Given the description of an element on the screen output the (x, y) to click on. 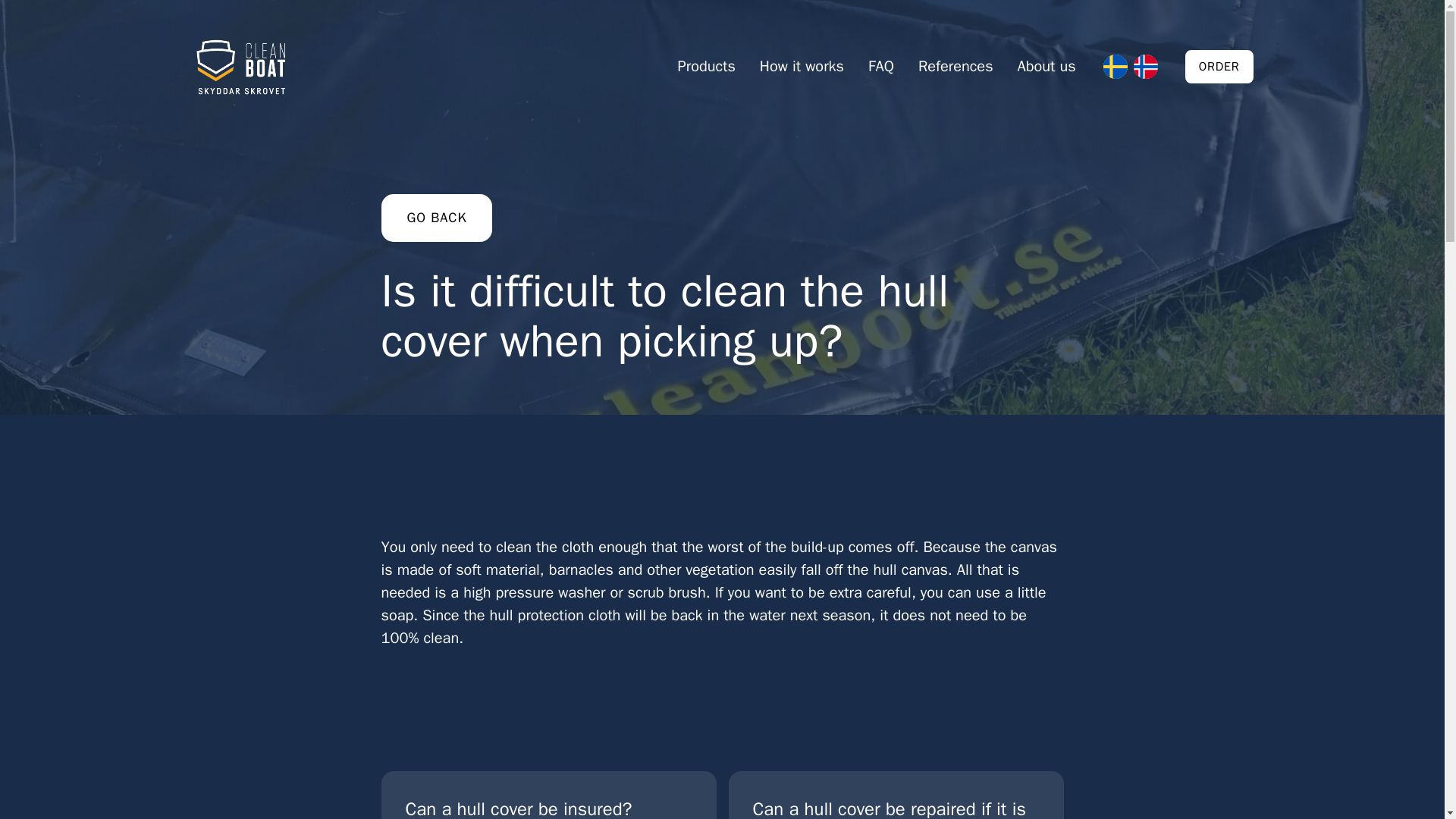
About us (895, 795)
GO BACK (1046, 66)
References (436, 217)
ORDER (955, 66)
How it works (1219, 66)
Products (802, 66)
FAQ (548, 795)
